Given the description of an element on the screen output the (x, y) to click on. 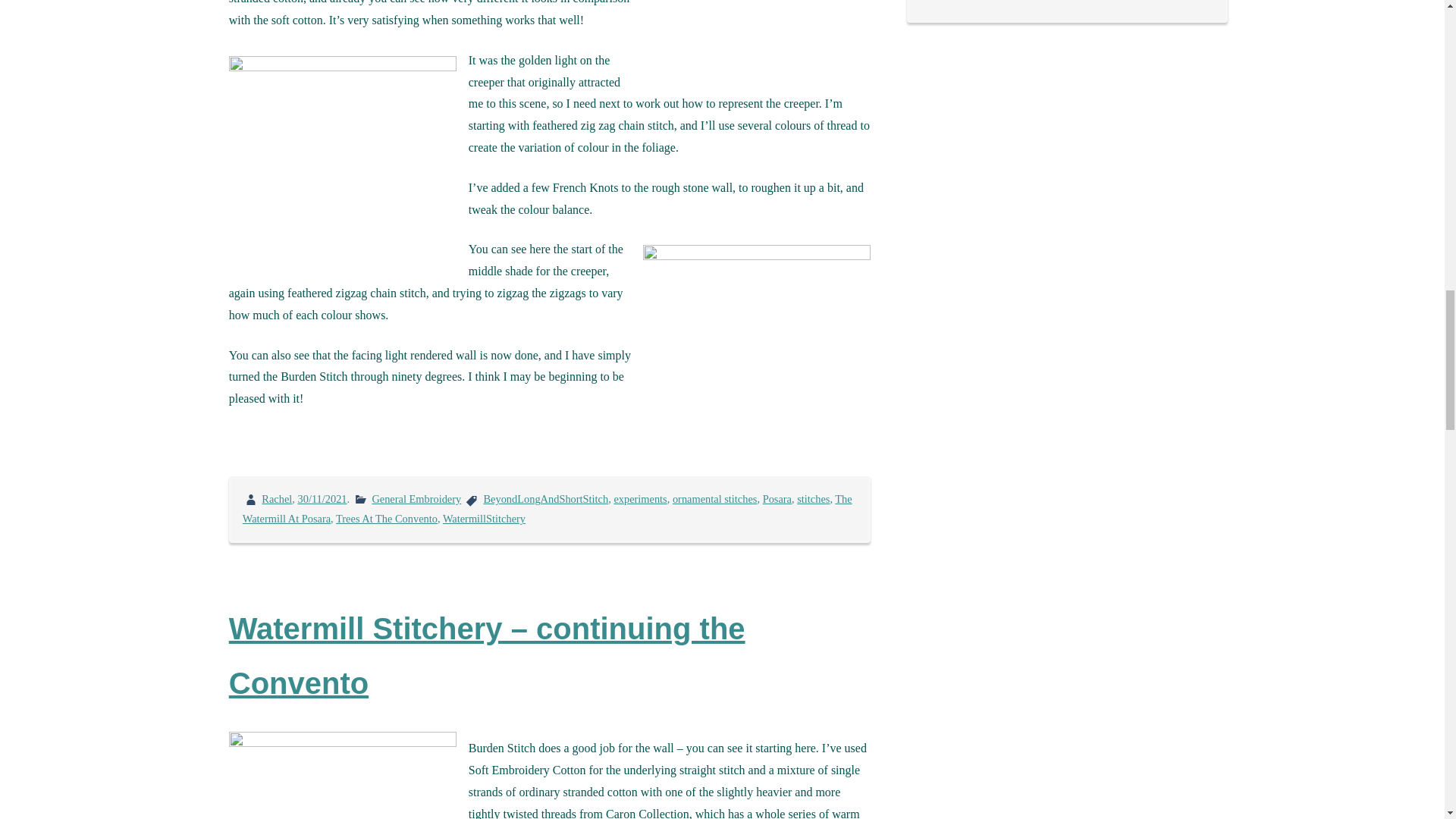
WatermillStitchery (483, 518)
BeyondLongAndShortStitch (545, 499)
Posara (777, 499)
General Embroidery (416, 499)
experiments (639, 499)
View all posts by Rachel (277, 499)
Rachel (277, 499)
Trees At The Convento (387, 518)
ornamental stitches (714, 499)
stitches (812, 499)
